Given the description of an element on the screen output the (x, y) to click on. 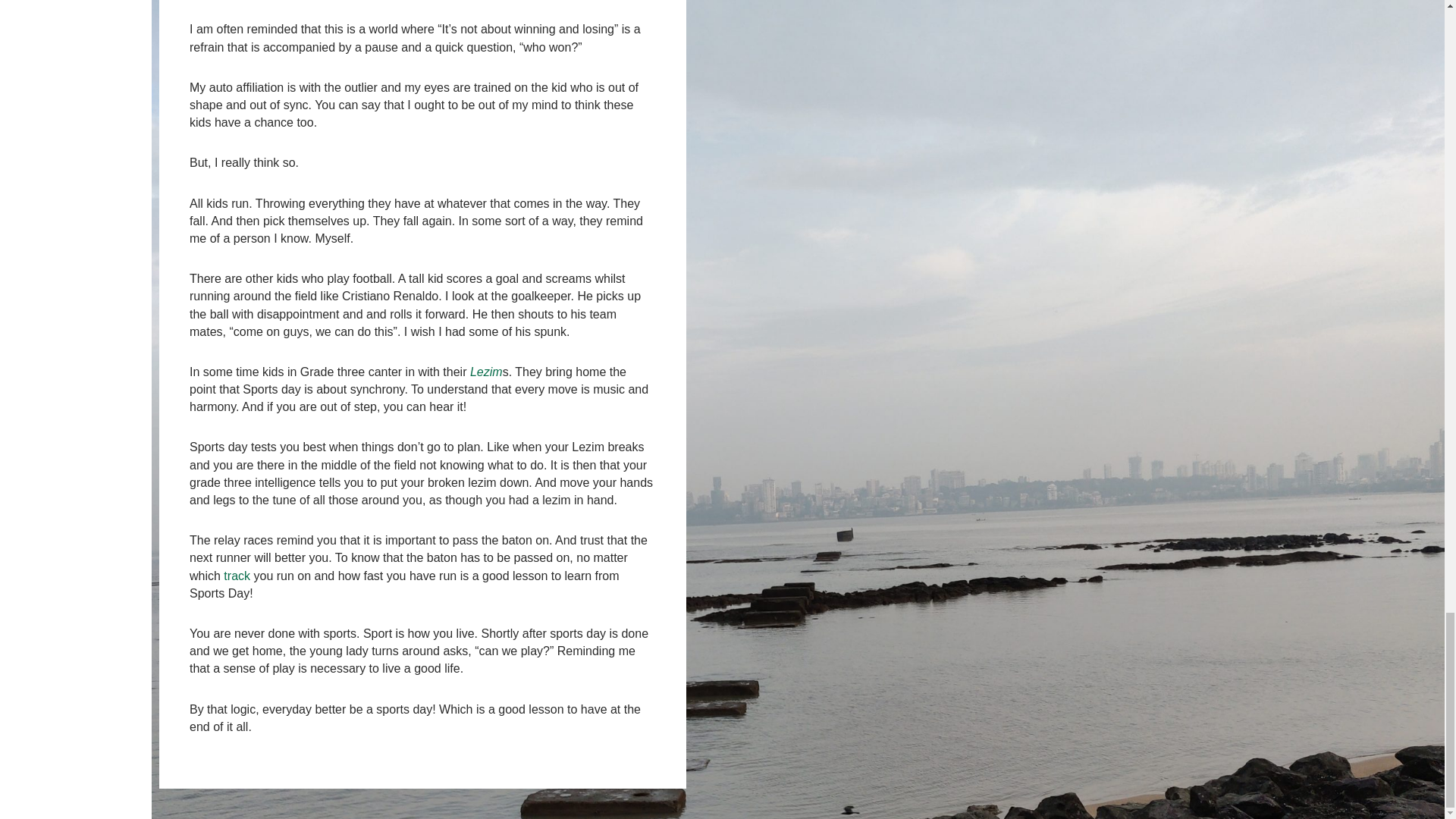
Lezim (486, 371)
